Given the description of an element on the screen output the (x, y) to click on. 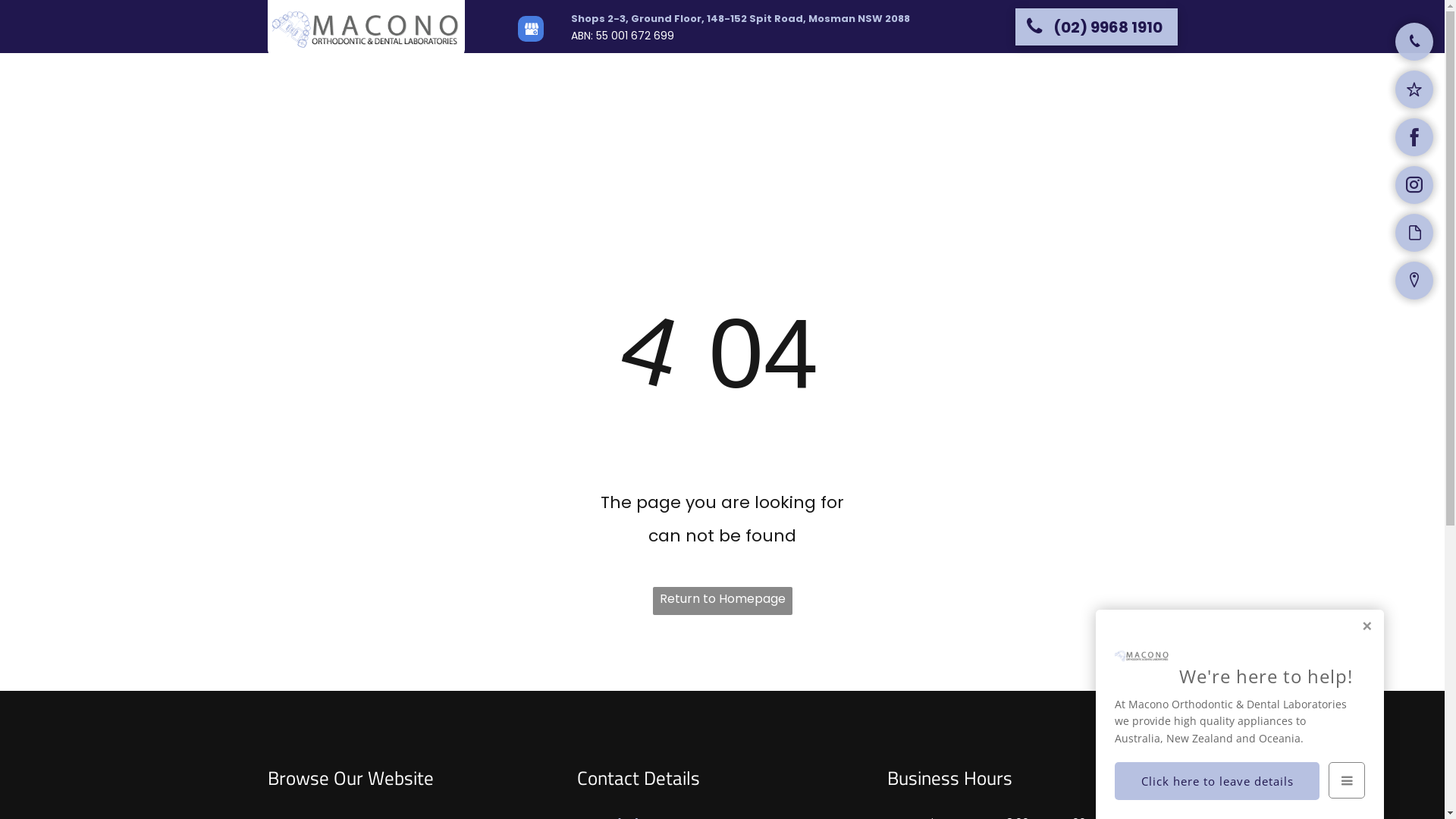
GALLERY Element type: text (1048, 77)
Click here to leave details Element type: text (1216, 781)
Return to Homepage Element type: text (721, 600)
(02) 9968 1910 Element type: text (1095, 25)
ABOUT US Element type: text (692, 77)
FAQ Element type: text (991, 77)
PRODUCTS Element type: text (779, 77)
CONTACT US Element type: text (1129, 77)
LAB FORMS & DESIGNS Element type: text (898, 77)
Shops 2-3, Ground Floor, 148-152 Spit Road, Mosman NSW 2088 Element type: text (739, 18)
Macono Orthodontic & Dental Laboratories Element type: hover (366, 29)
HOME Element type: text (626, 77)
